Given the description of an element on the screen output the (x, y) to click on. 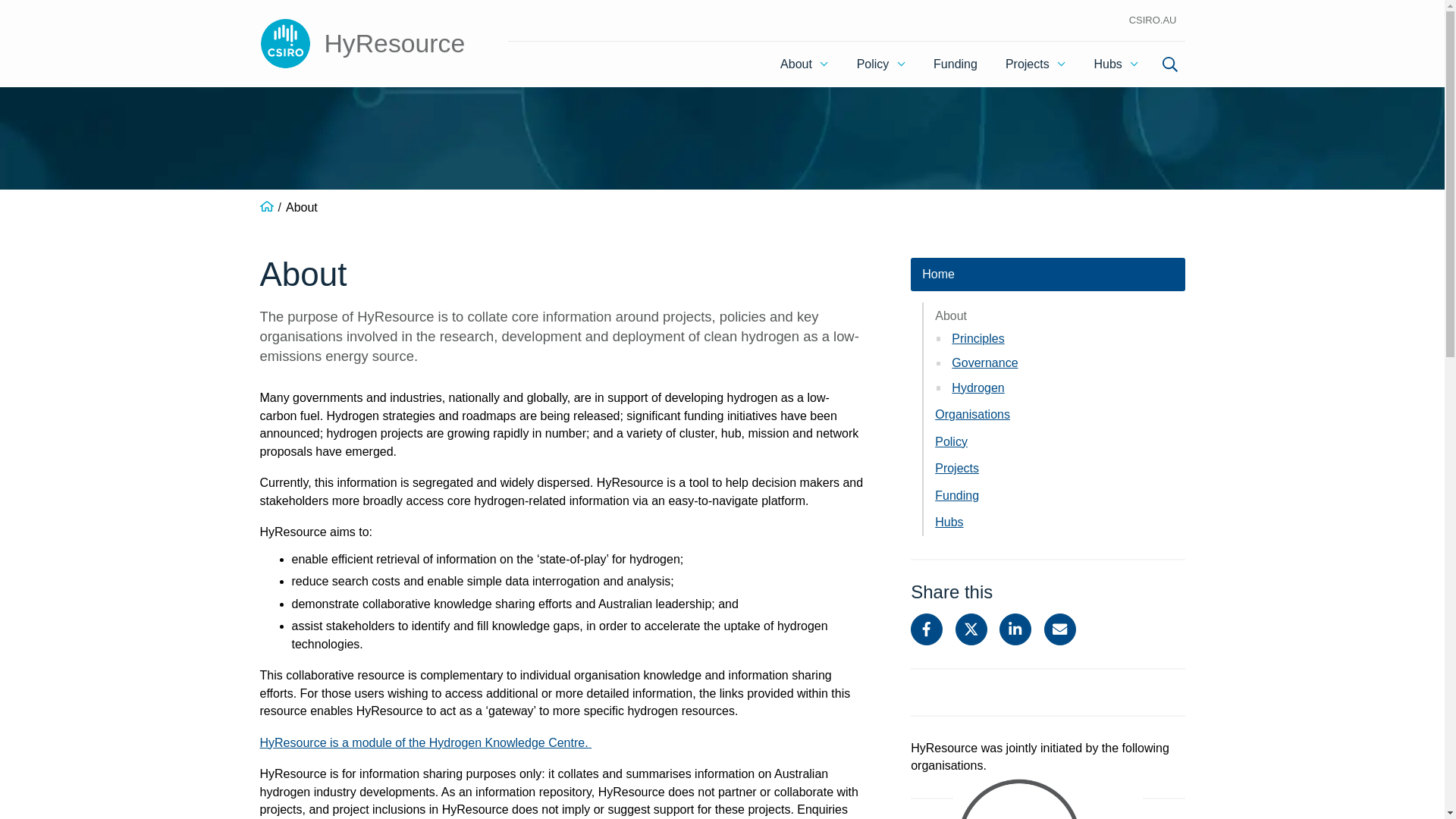
CSIRO.AU (1153, 20)
HyResource (361, 43)
Hubs (1115, 64)
About (804, 64)
Policy (880, 64)
Projects (1035, 64)
Funding (955, 64)
